Given the description of an element on the screen output the (x, y) to click on. 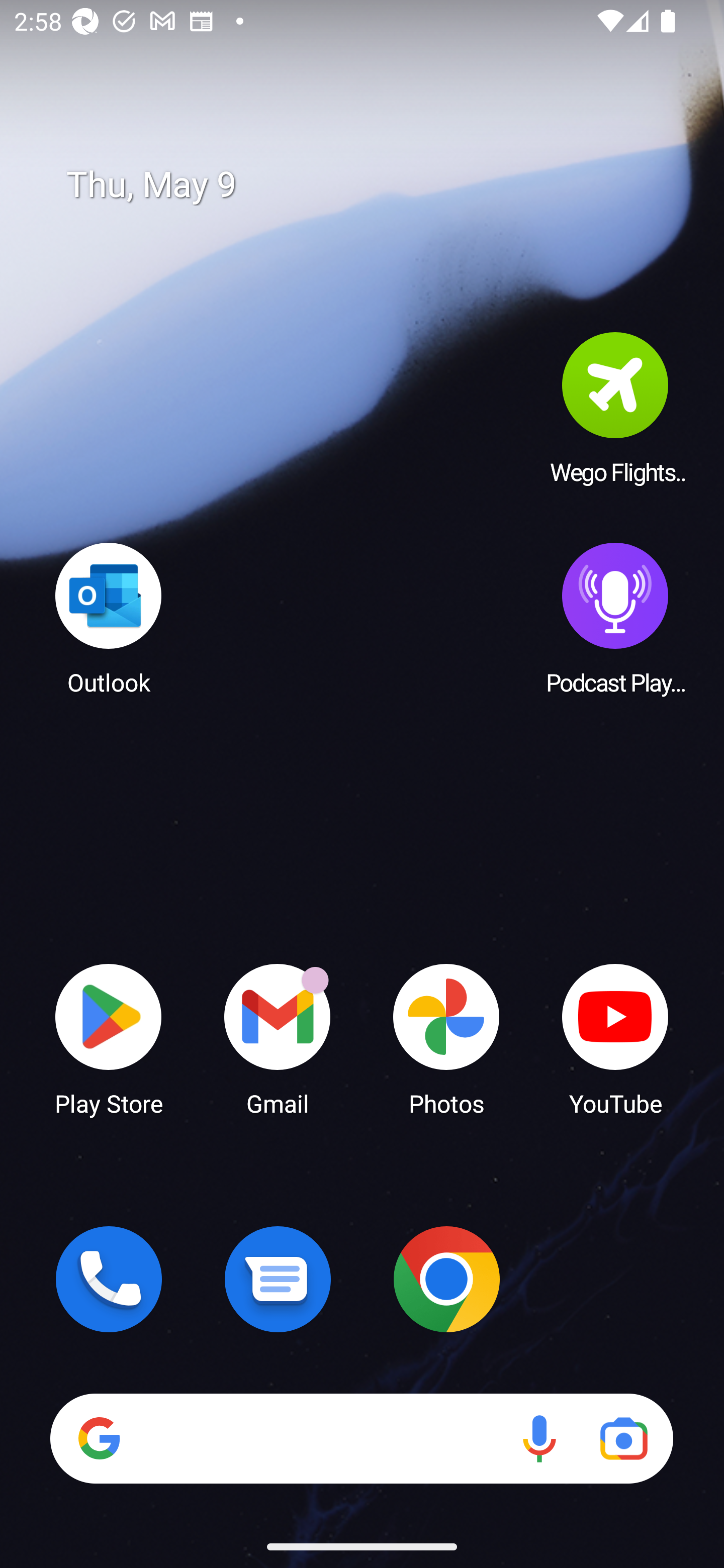
Thu, May 9 (375, 184)
Wego Flights & Hotels (615, 407)
Outlook (108, 617)
Podcast Player (615, 617)
Play Store (108, 1038)
Gmail Gmail has 18 notifications (277, 1038)
Photos (445, 1038)
YouTube (615, 1038)
Phone (108, 1279)
Messages (277, 1279)
Chrome (446, 1279)
Search Voice search Google Lens (361, 1438)
Voice search (539, 1438)
Google Lens (623, 1438)
